Given the description of an element on the screen output the (x, y) to click on. 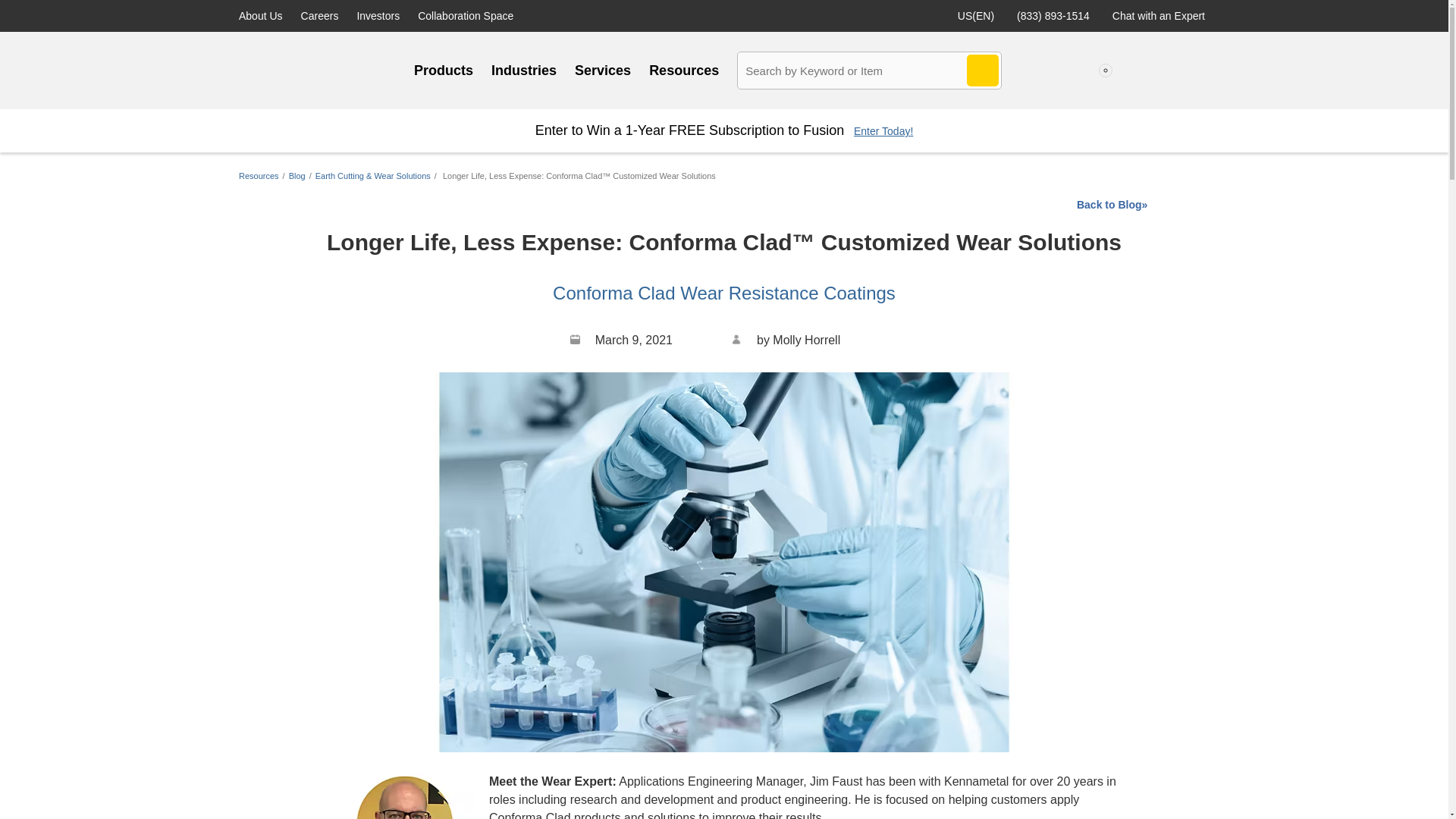
Products (443, 70)
Careers (320, 15)
Chat with an Expert (1158, 15)
Investors (377, 15)
Collaboration Space (465, 15)
About Us (260, 15)
